Given the description of an element on the screen output the (x, y) to click on. 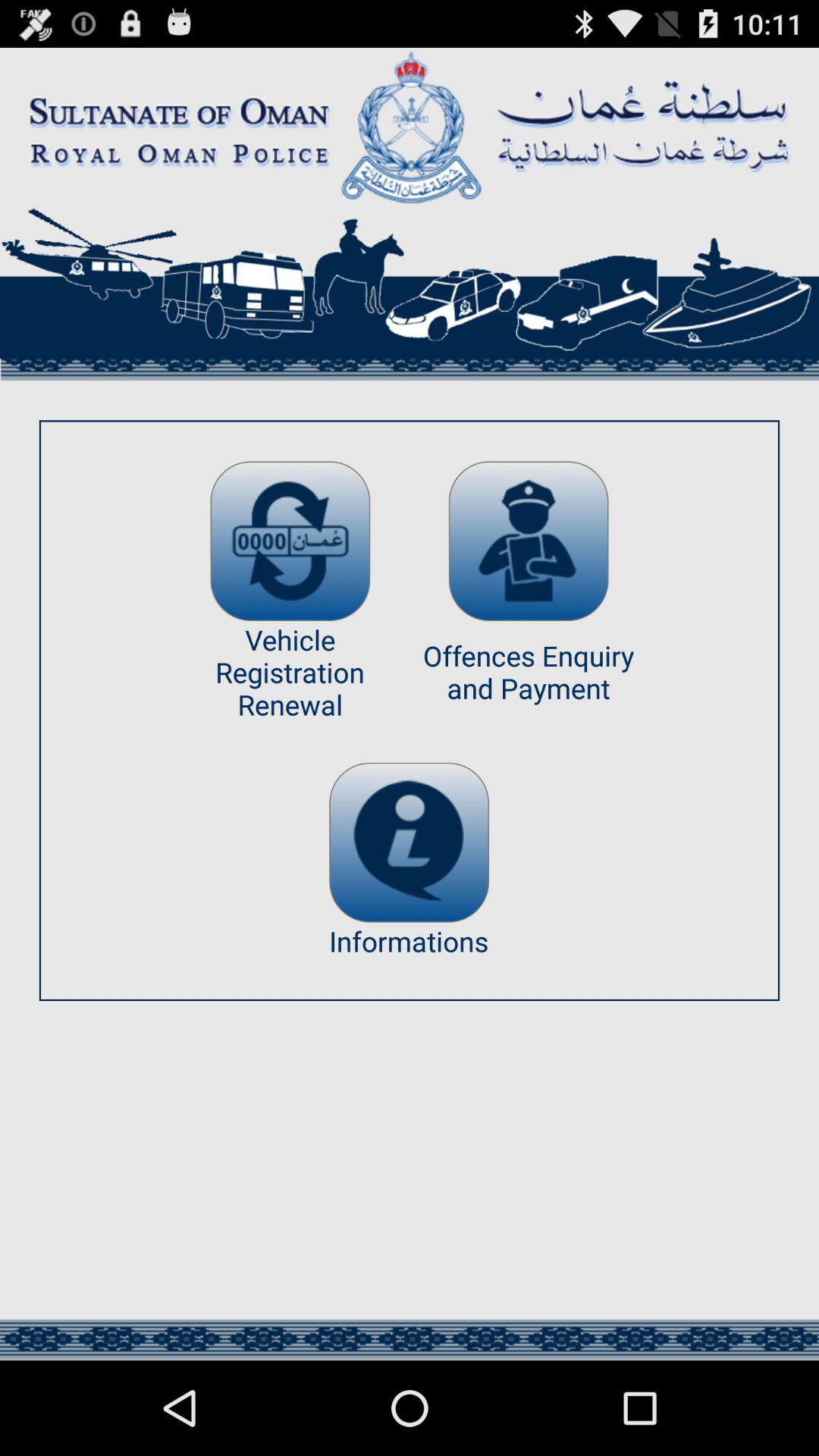
more information (409, 842)
